Given the description of an element on the screen output the (x, y) to click on. 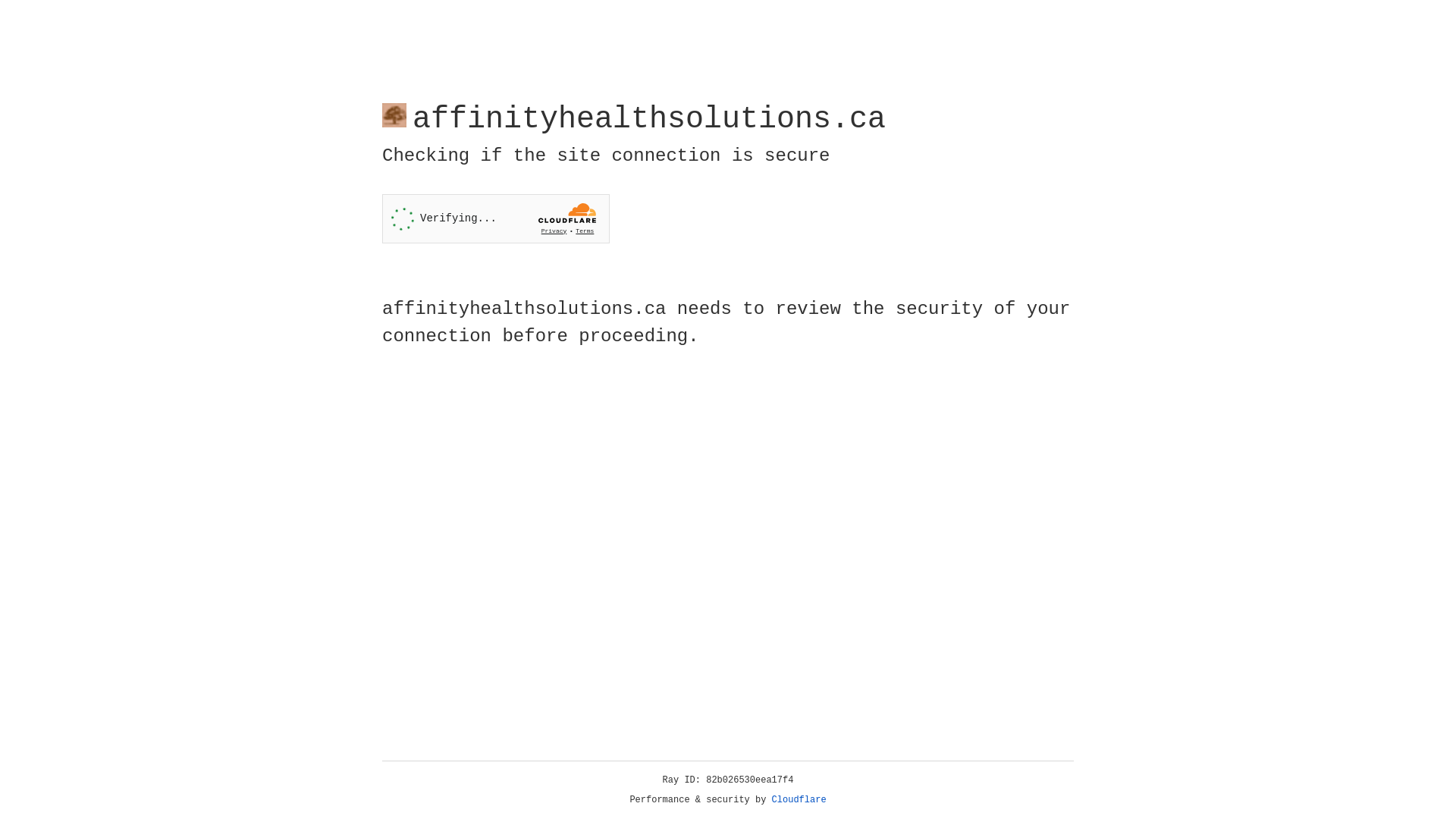
Widget containing a Cloudflare security challenge Element type: hover (495, 218)
Cloudflare Element type: text (798, 799)
